Given the description of an element on the screen output the (x, y) to click on. 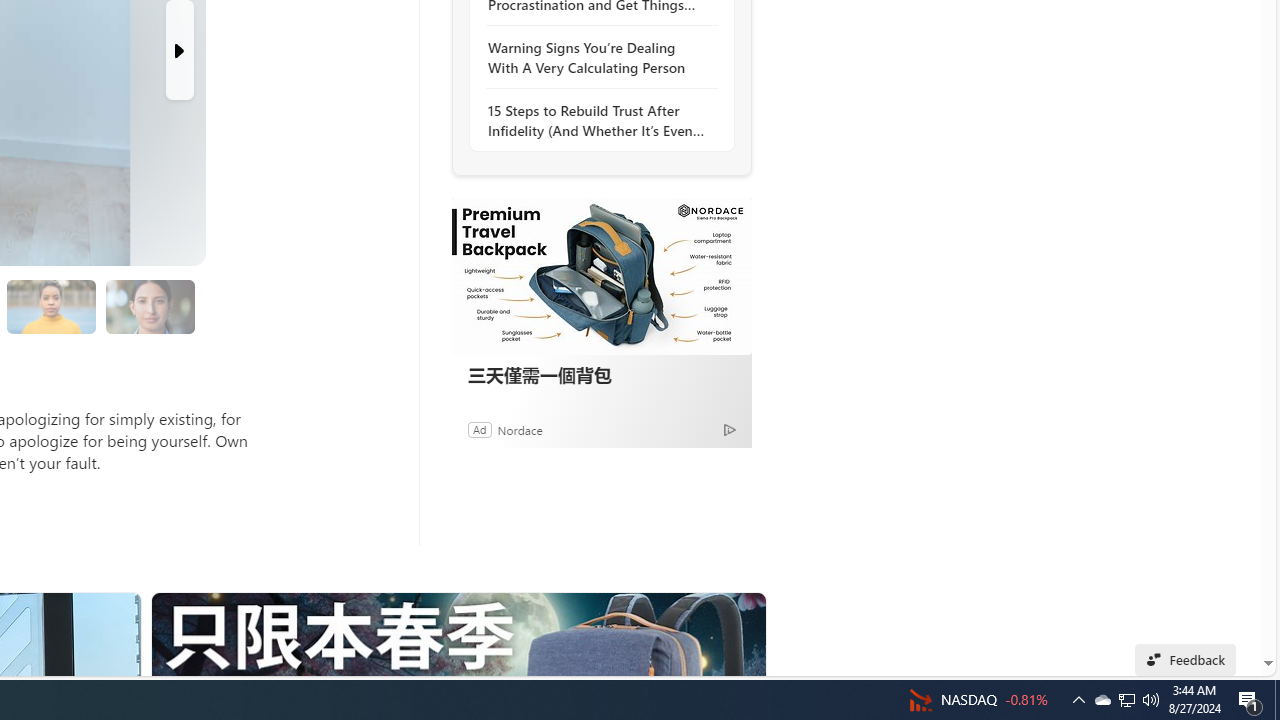
Class: progress (149, 303)
Next Slide (179, 50)
